Given the description of an element on the screen output the (x, y) to click on. 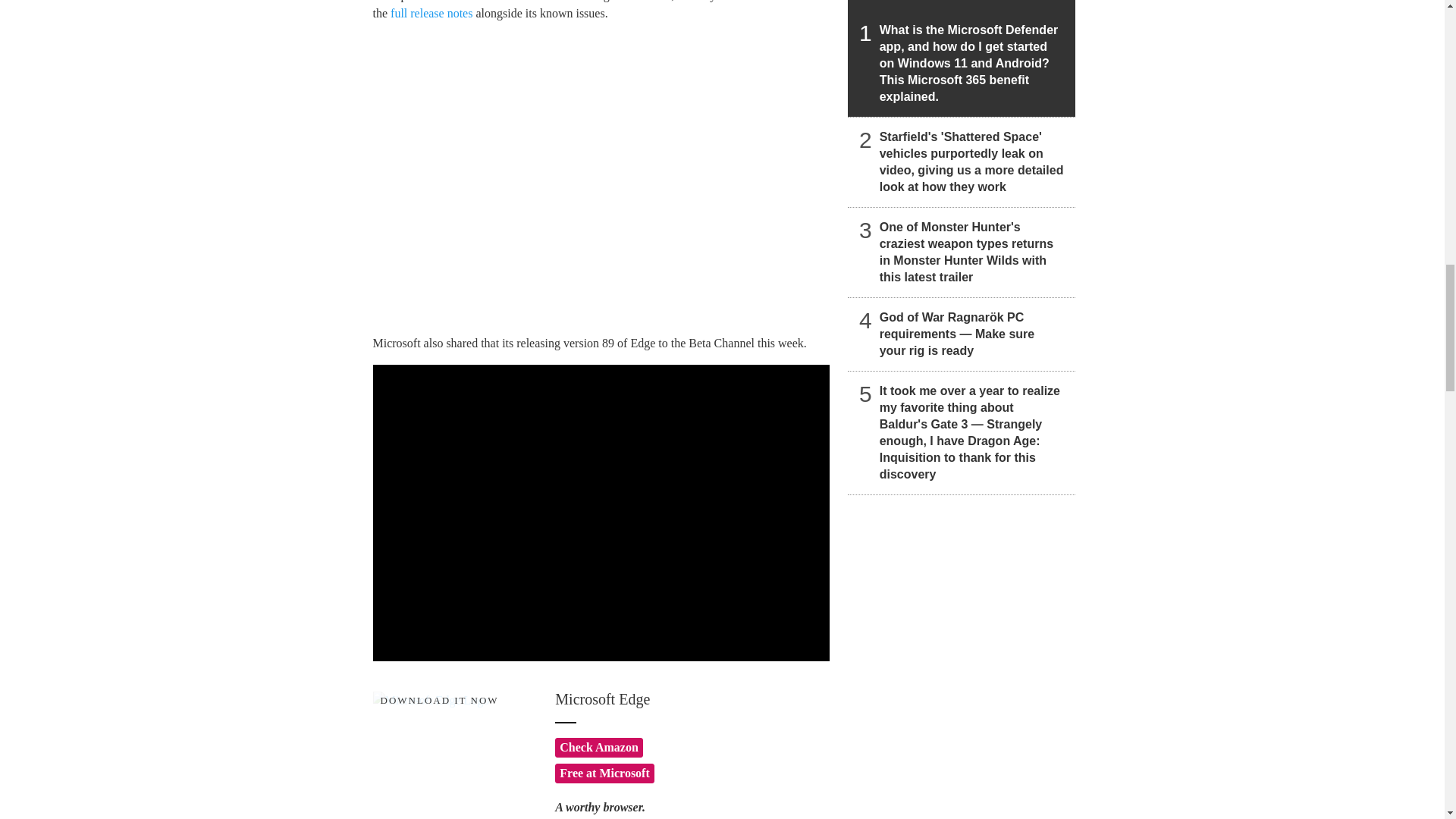
full release notes (430, 12)
Check Amazon (599, 747)
